Given the description of an element on the screen output the (x, y) to click on. 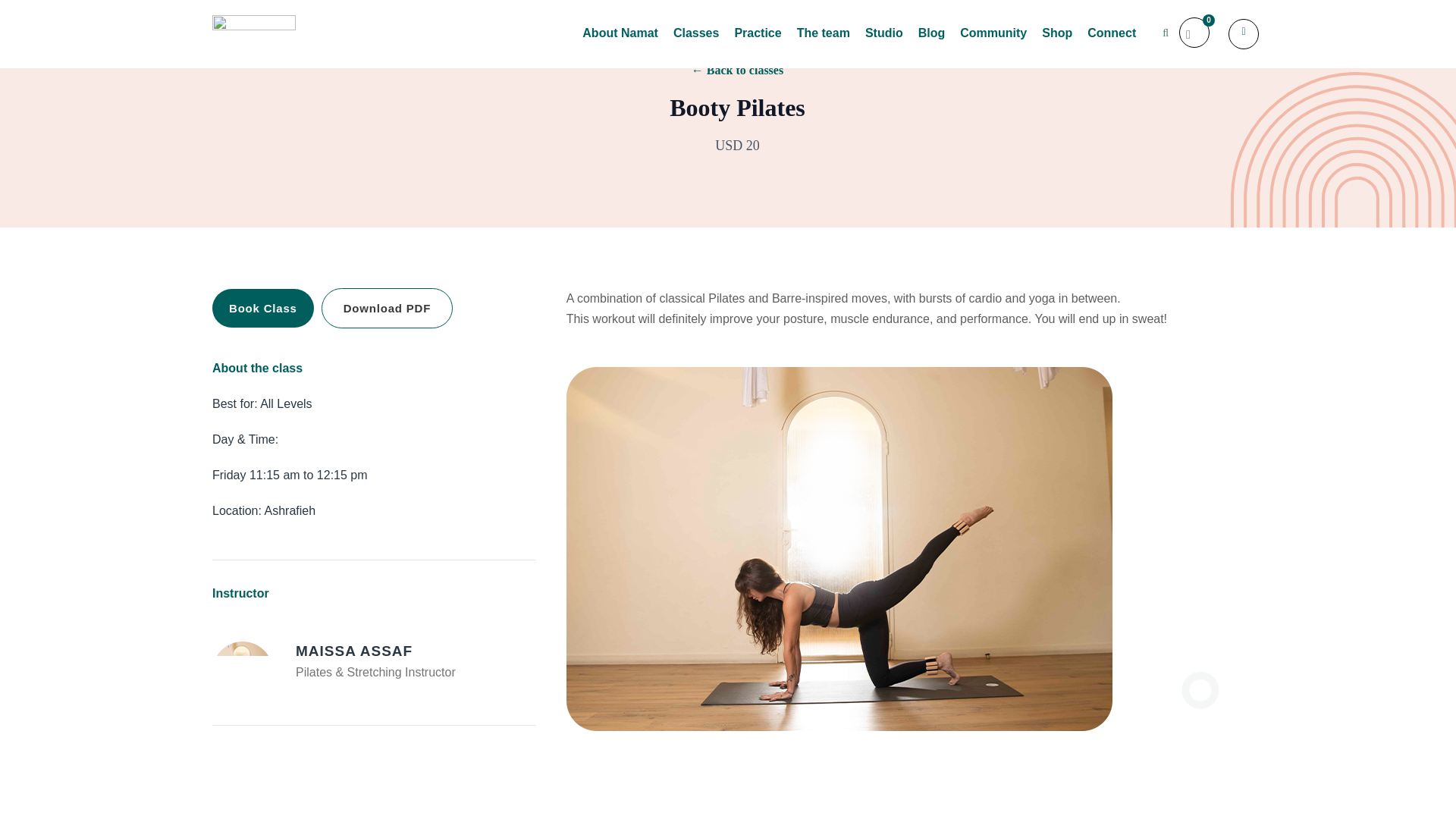
The team (823, 39)
Connect (1111, 39)
Practice (756, 39)
Studio (883, 39)
Shop (1056, 39)
Classes (695, 39)
Community (992, 39)
About Namat (620, 39)
booty-pilates (242, 671)
